Given the description of an element on the screen output the (x, y) to click on. 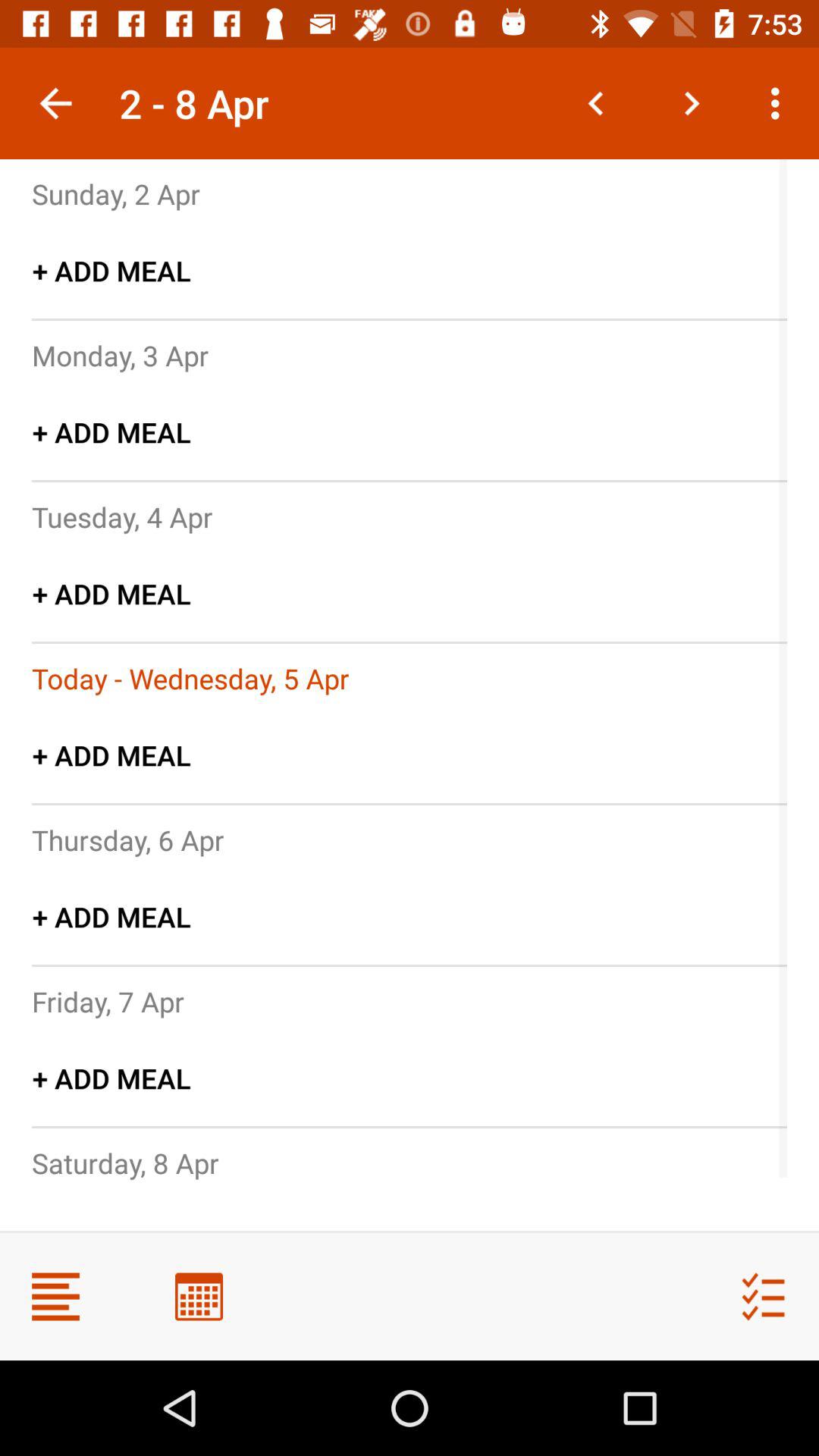
go forward (691, 103)
